Given the description of an element on the screen output the (x, y) to click on. 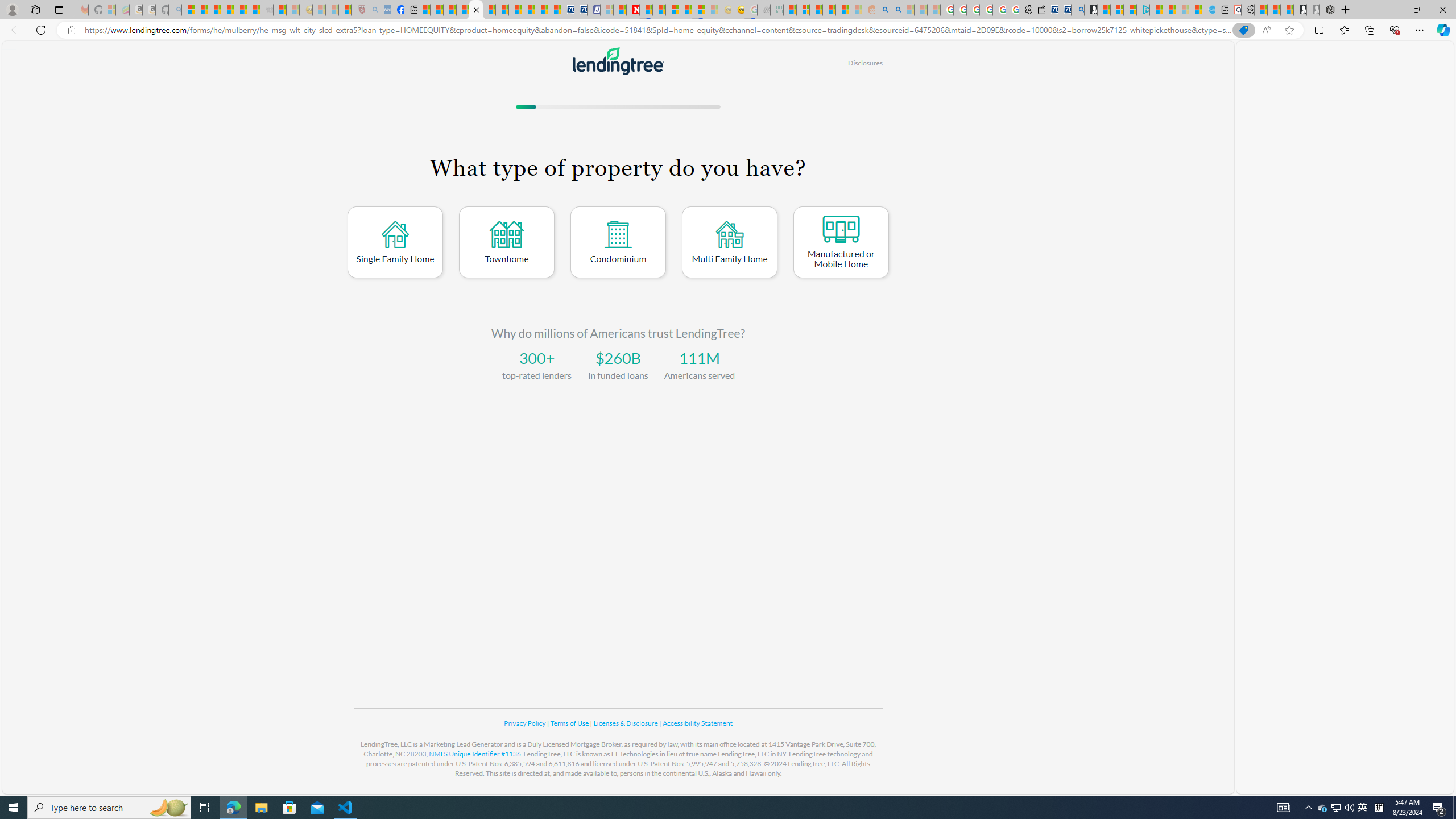
New Report Confirms 2023 Was Record Hot | Watch (239, 9)
